Given the description of an element on the screen output the (x, y) to click on. 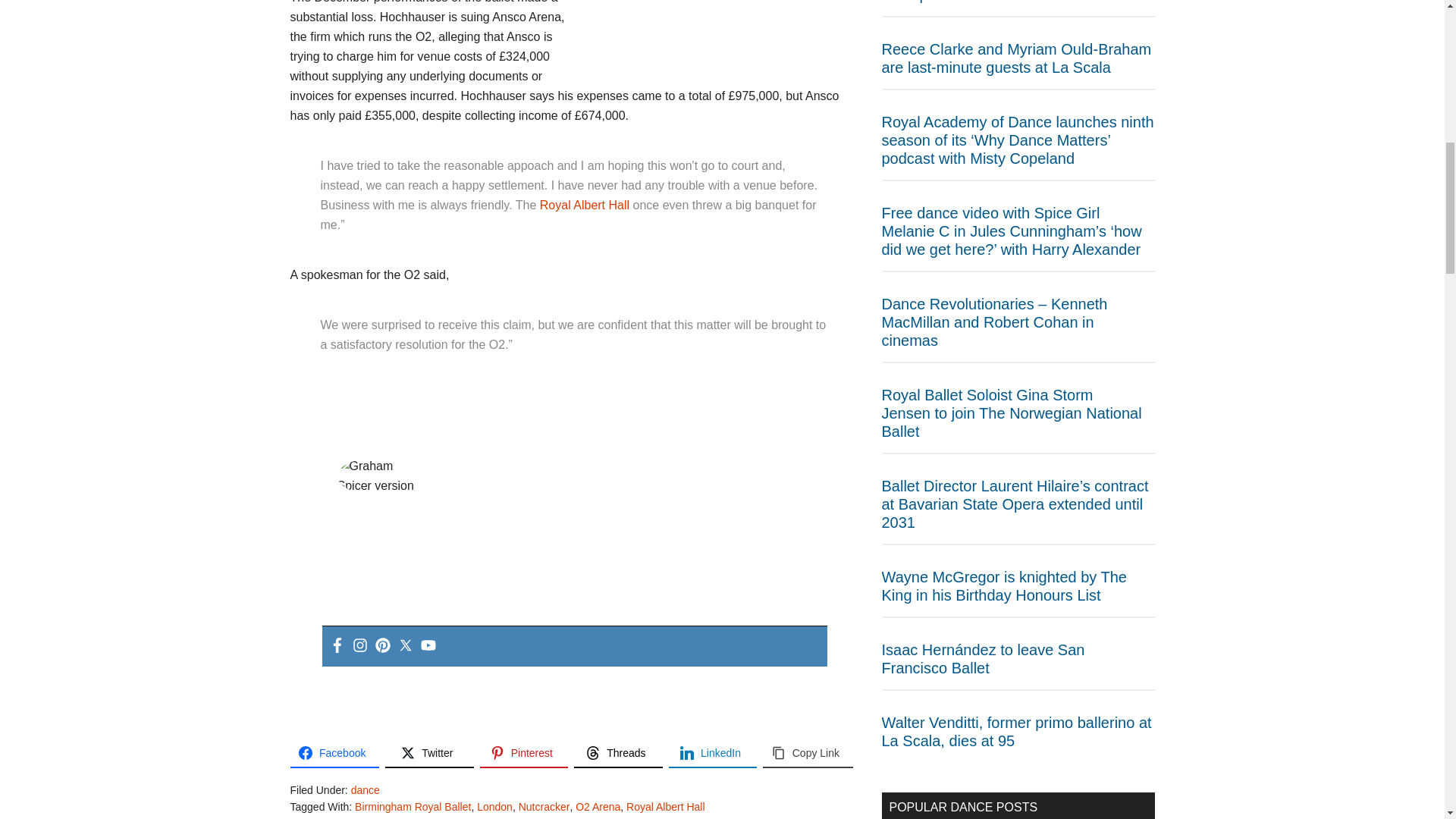
Threads (617, 753)
Posts tagged with Royal Albert Hall (584, 205)
Instagram (359, 646)
Graham Spicer version (382, 476)
Pinterest (524, 753)
Twitter (429, 753)
Facebook (333, 753)
Nutcracker-BRB (725, 31)
Facebook (336, 646)
Royal Albert Hall (584, 205)
